Given the description of an element on the screen output the (x, y) to click on. 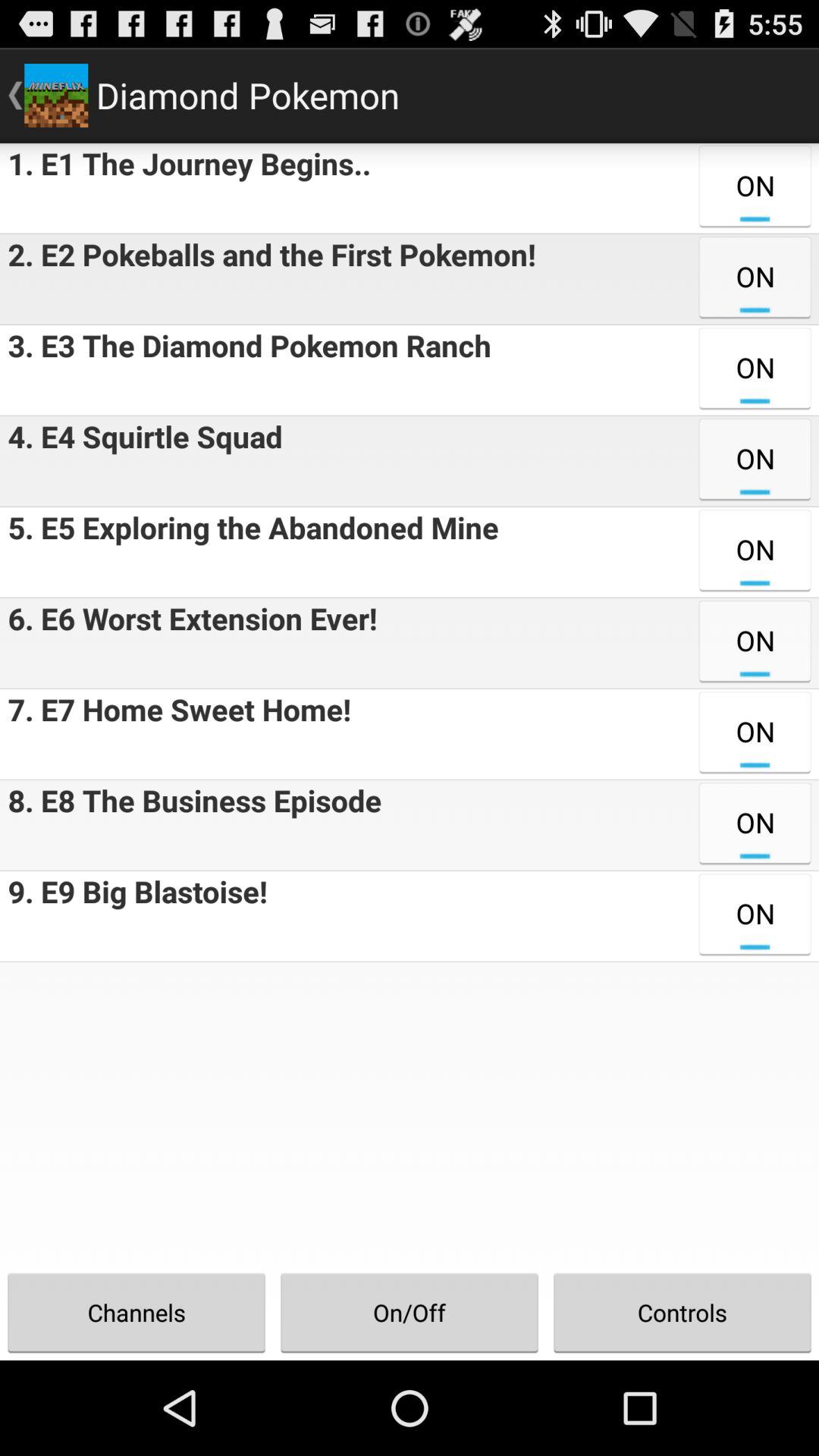
launch the app below the 2 e2 pokeballs item (245, 370)
